Given the description of an element on the screen output the (x, y) to click on. 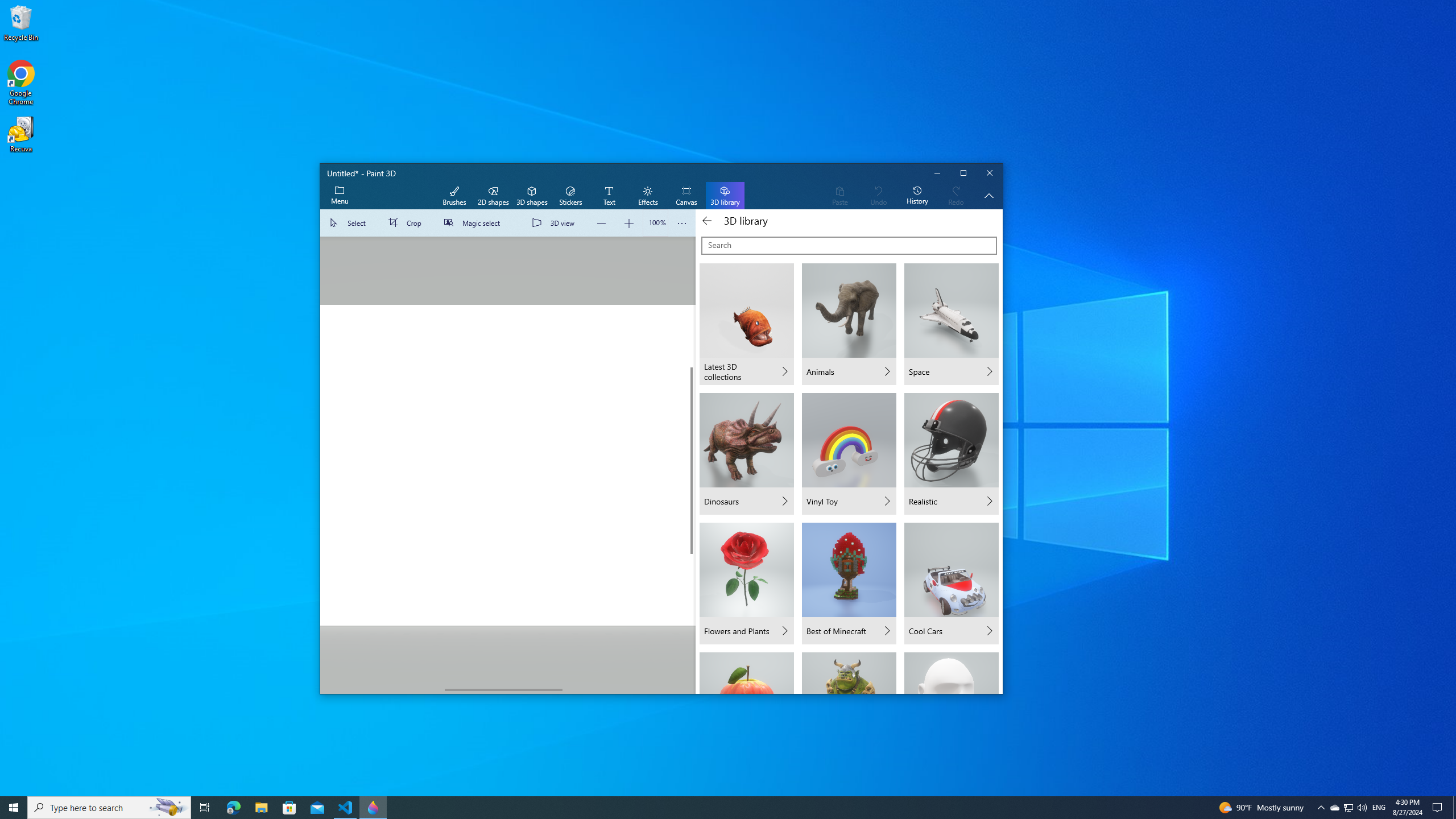
Latest 3D collections (746, 323)
Canvas (686, 195)
Crop (407, 222)
View more options (681, 222)
Blank Heads (951, 672)
Paint 3D - 1 running window (373, 807)
